Given the description of an element on the screen output the (x, y) to click on. 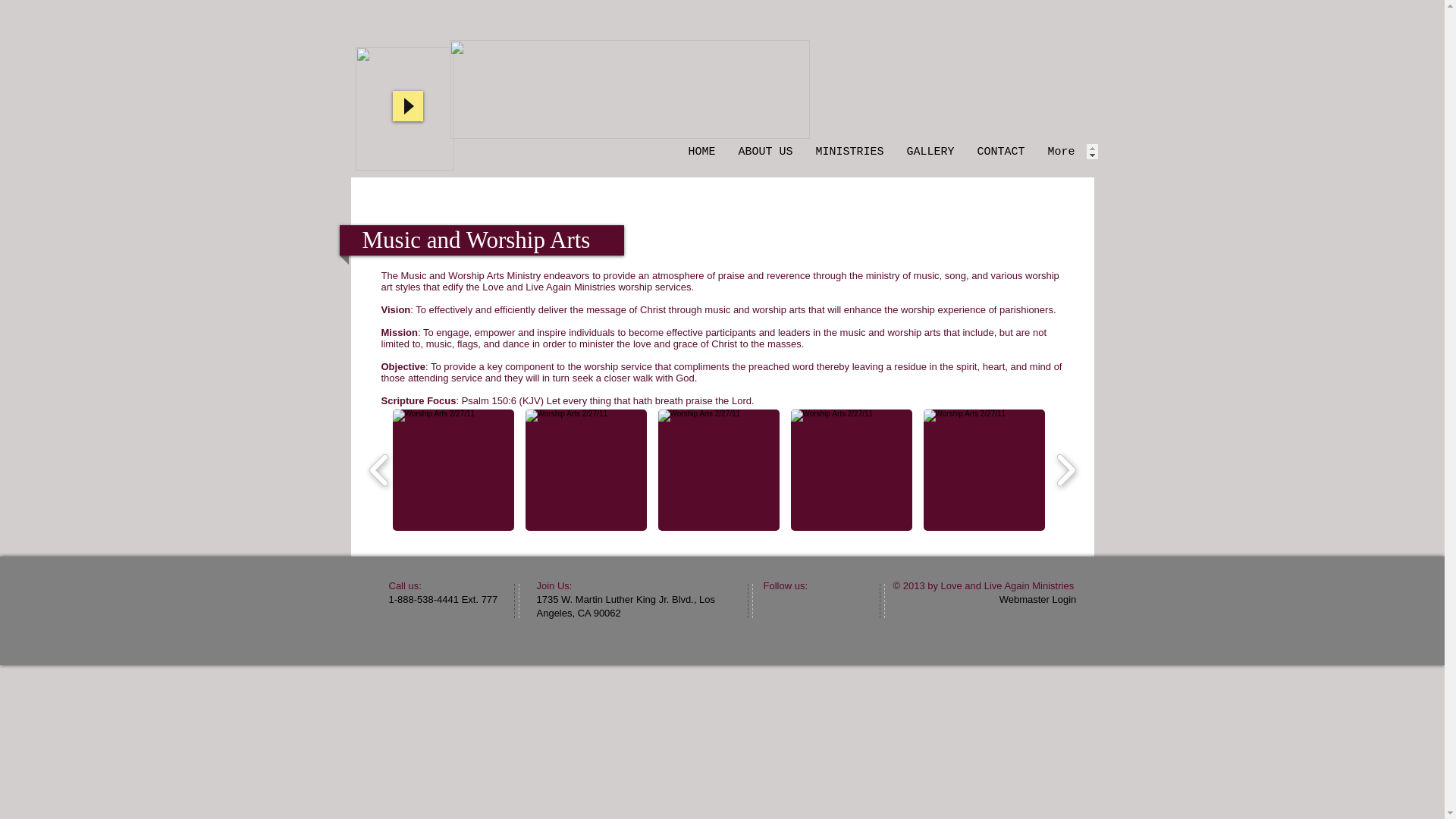
MINISTRIES (849, 151)
Webmaster Login (1037, 599)
ABOUT US (764, 151)
CONTACT (1000, 151)
GALLERY (930, 151)
HOME (701, 151)
